Given the description of an element on the screen output the (x, y) to click on. 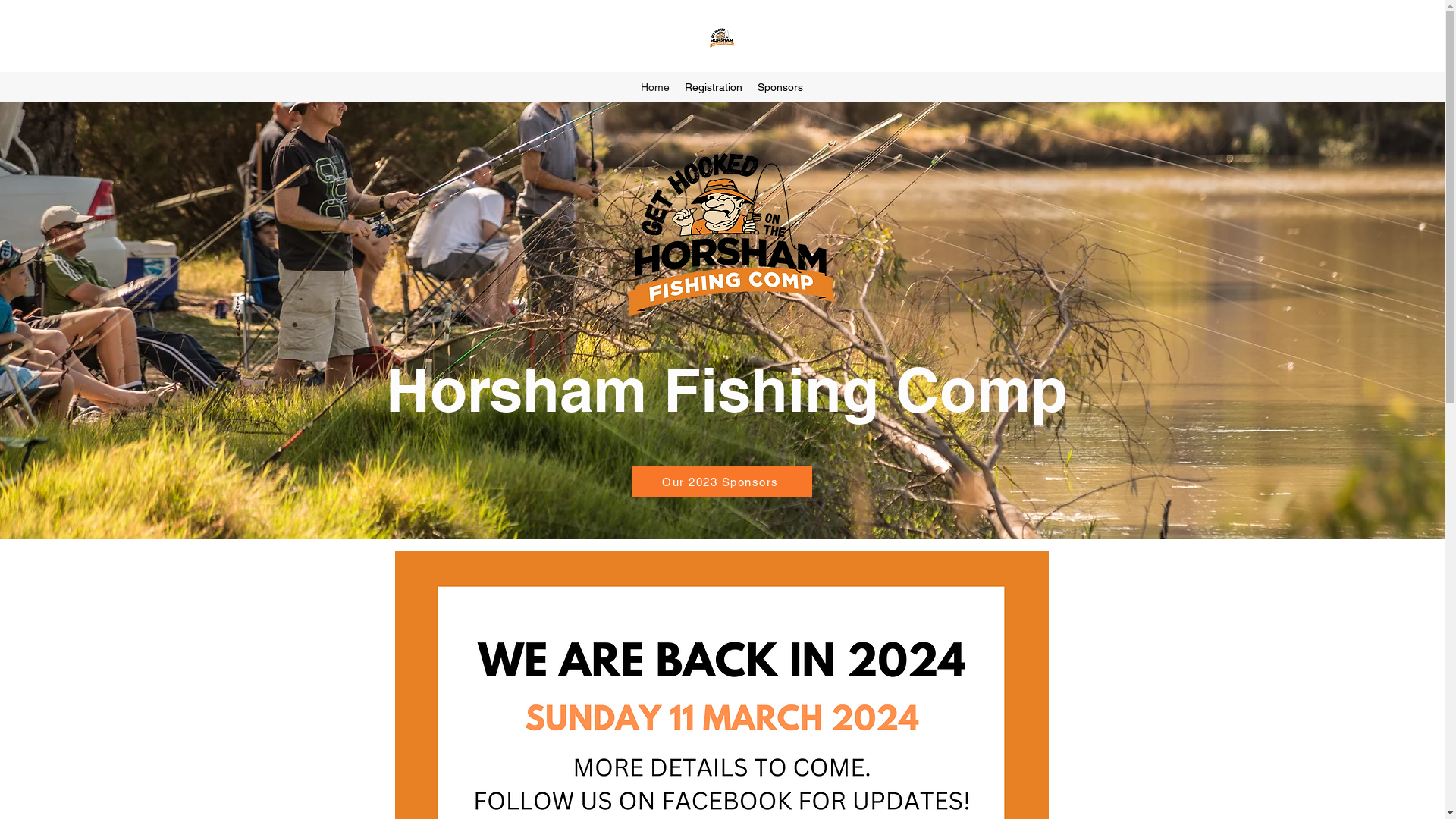
Home Element type: text (655, 86)
Sponsors Element type: text (779, 86)
Our 2023 Sponsors Element type: text (722, 481)
Registration Element type: text (713, 86)
